Given the description of an element on the screen output the (x, y) to click on. 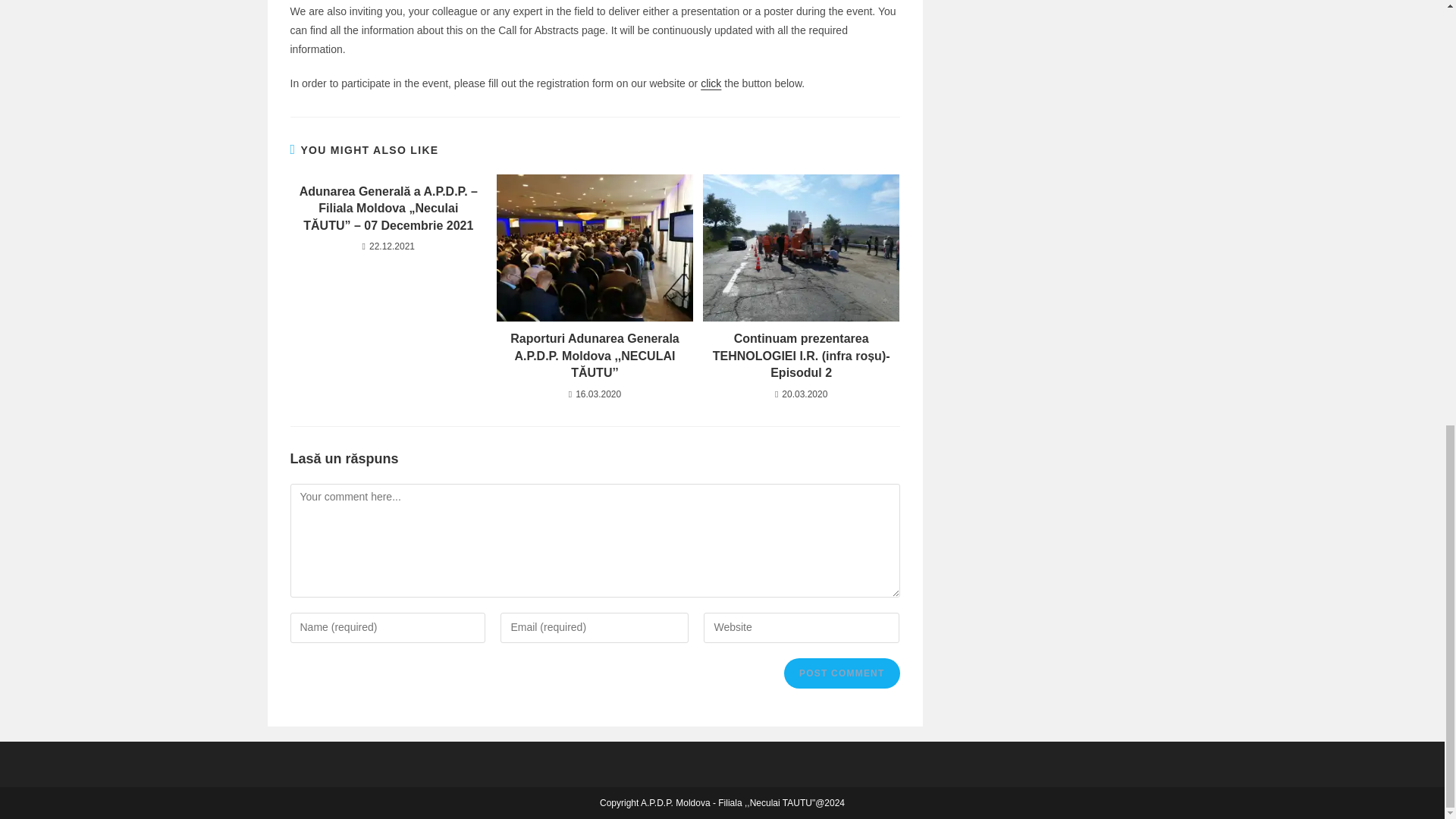
Post Comment (841, 673)
